Given the description of an element on the screen output the (x, y) to click on. 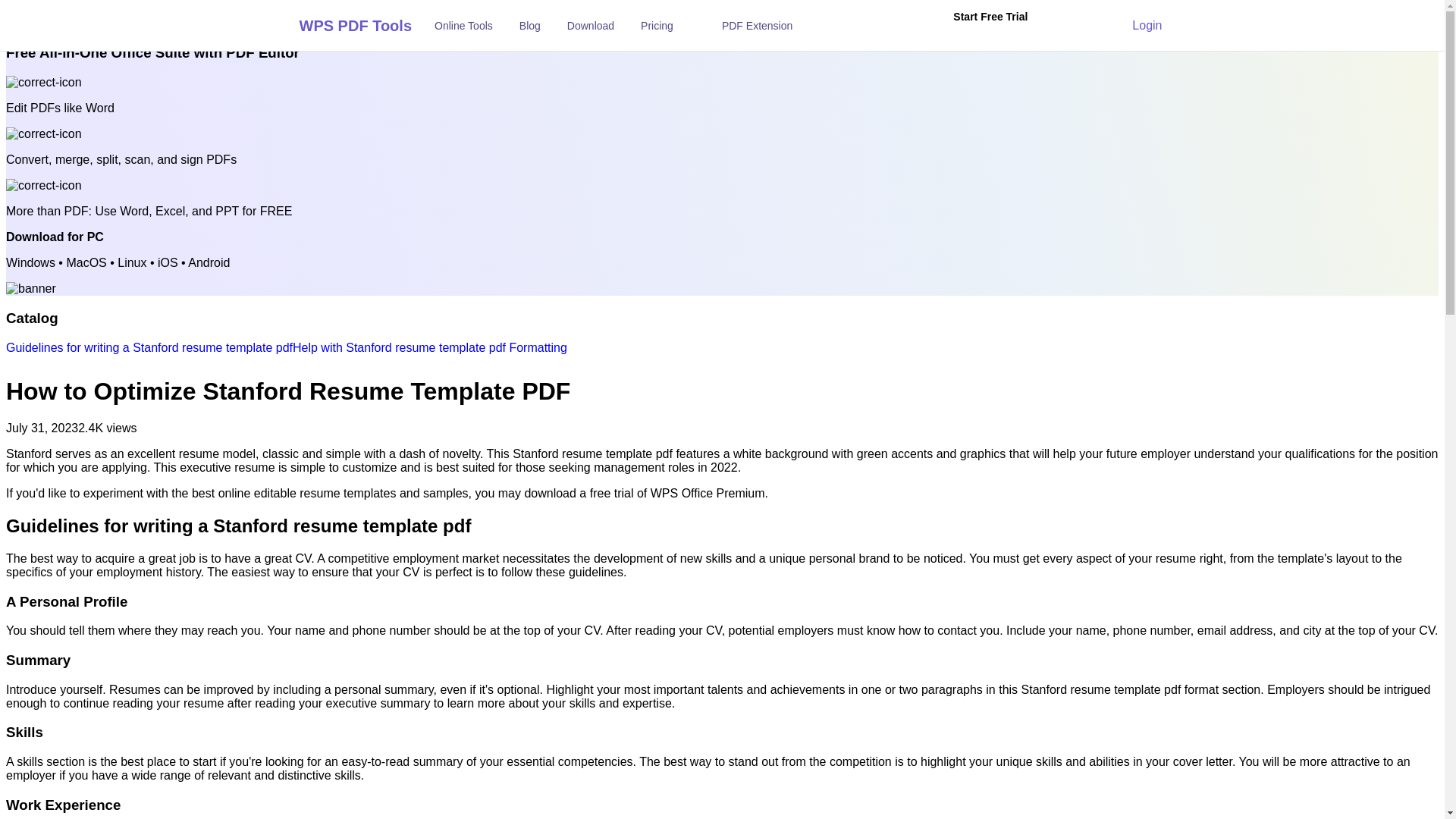
Blog (529, 25)
Download (590, 25)
Guidelines for writing a Stanford resume template pdf (148, 347)
Help with Stanford resume template pdf Formatting (429, 347)
WPS PDF Tools (339, 24)
